Given the description of an element on the screen output the (x, y) to click on. 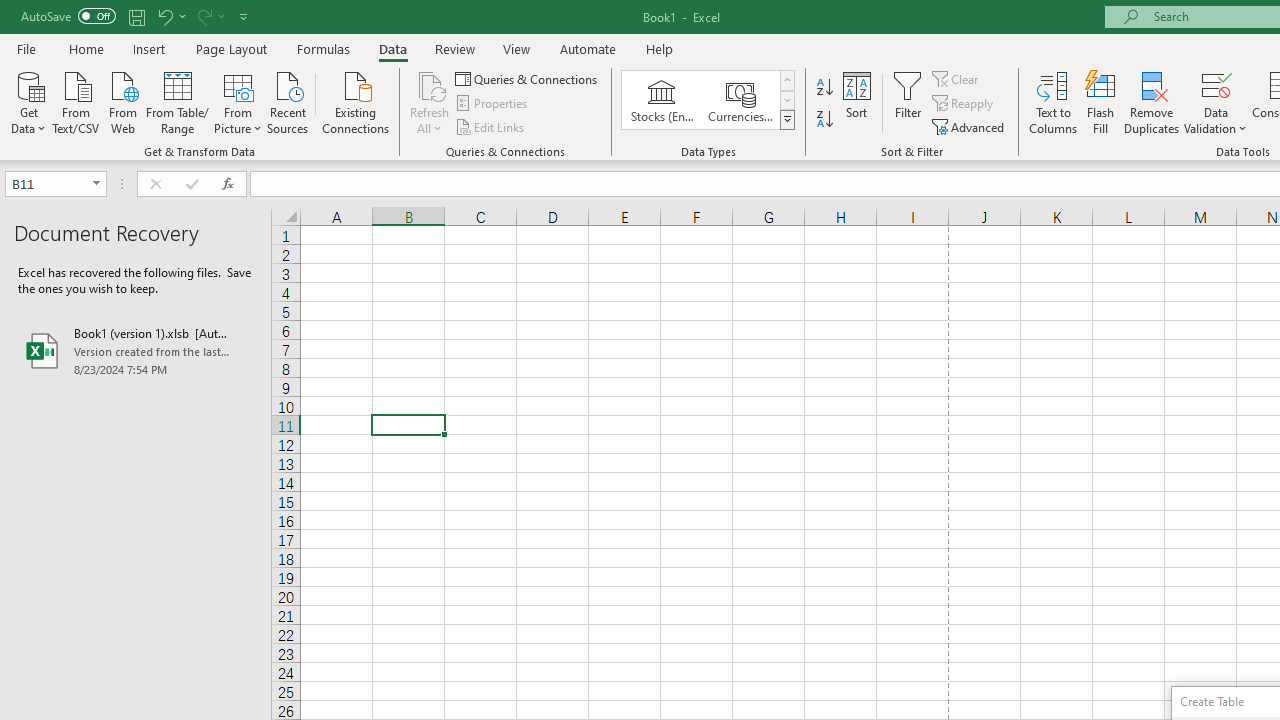
From Table/Range (177, 101)
Recent Sources (287, 101)
From Text/CSV (75, 101)
AutomationID: ConvertToLinkedEntity (708, 99)
Existing Connections (355, 101)
Sort A to Z (824, 87)
